Given the description of an element on the screen output the (x, y) to click on. 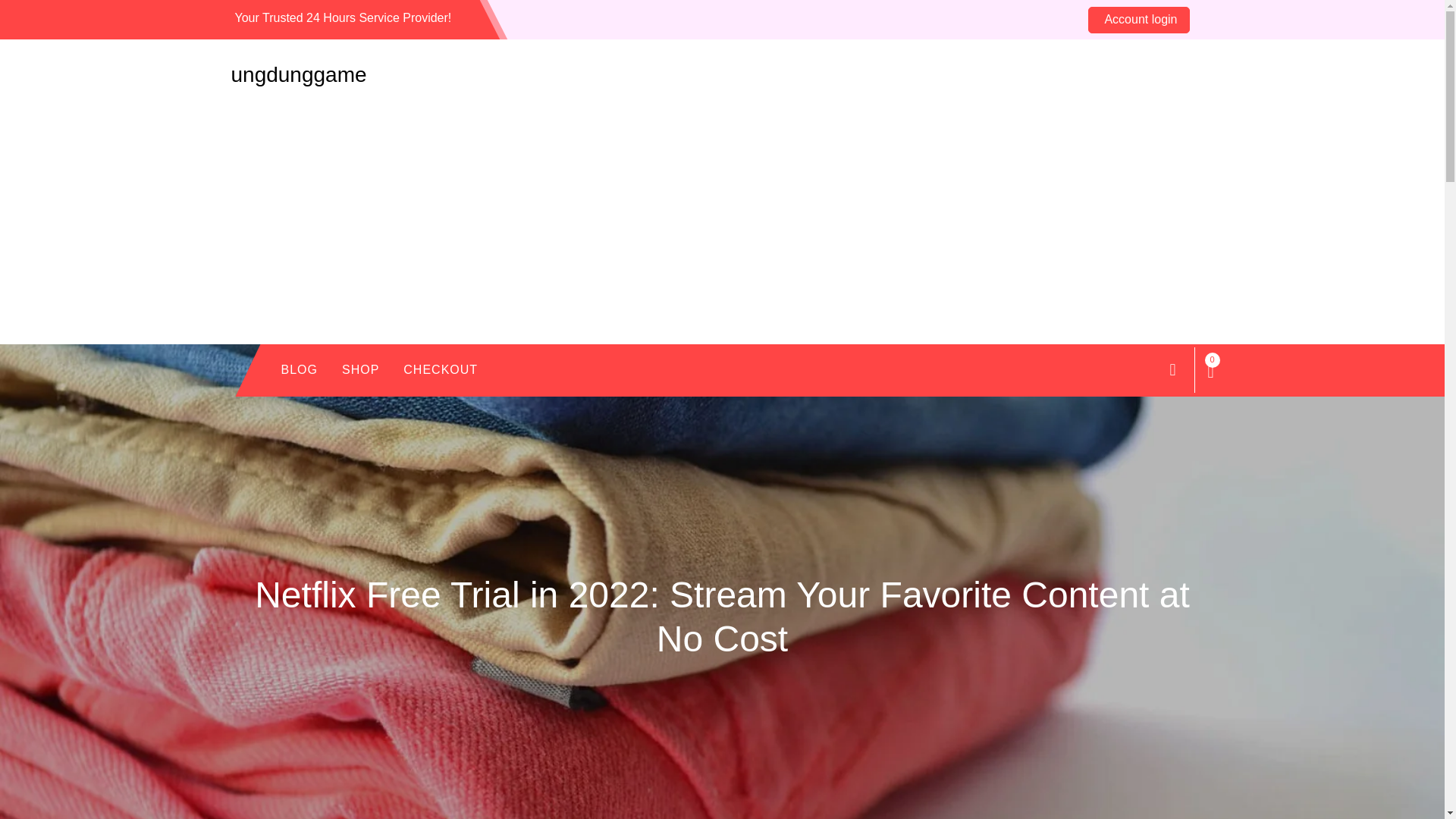
BLOG (298, 369)
CHECKOUT (440, 369)
Account login (1138, 18)
ungdunggame (298, 74)
SHOP (360, 369)
